Given the description of an element on the screen output the (x, y) to click on. 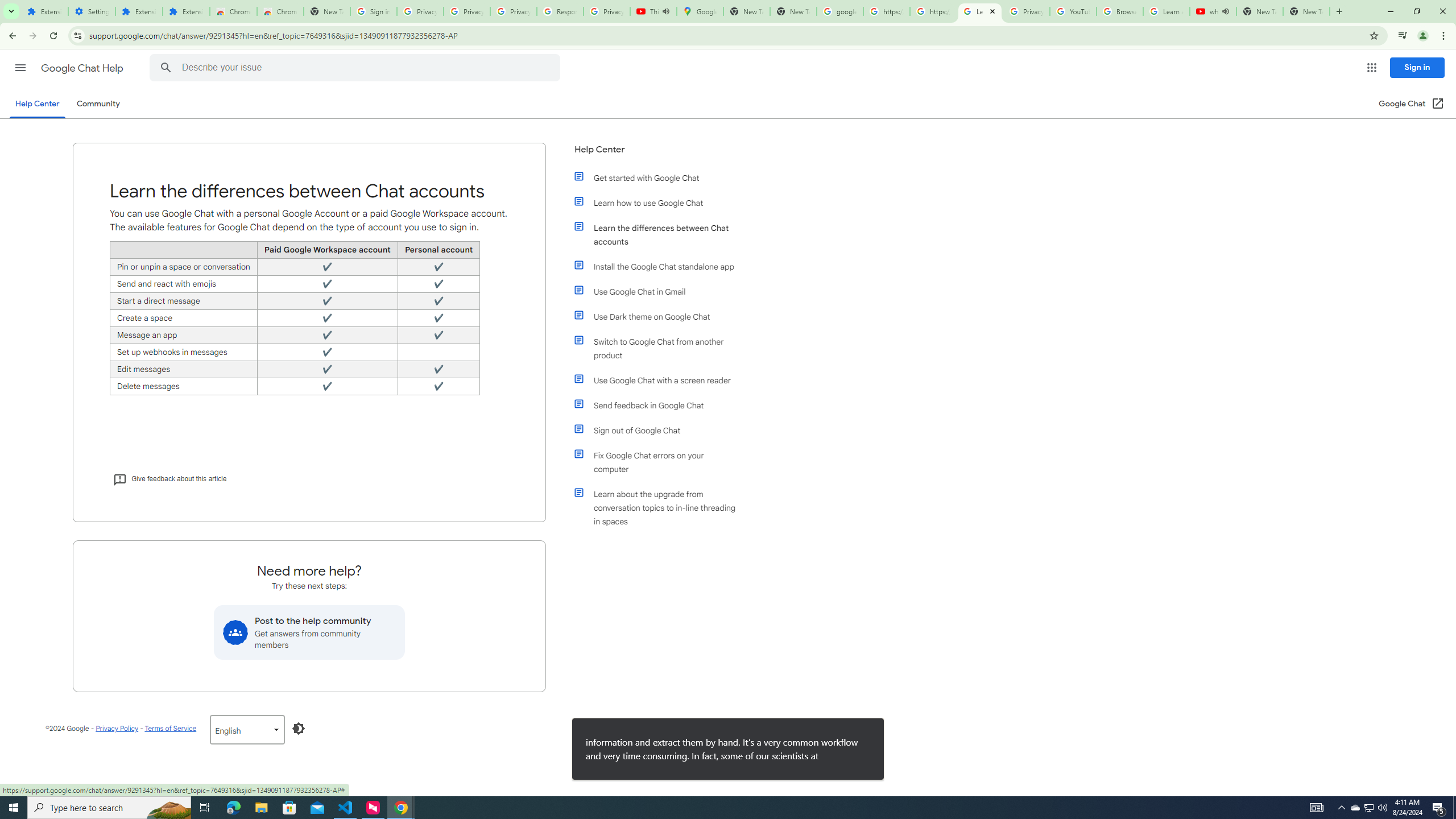
Chrome Web Store - Themes (279, 11)
Describe your issue (356, 67)
Switch to Google Chat from another product (661, 348)
New Tab (326, 11)
